Given the description of an element on the screen output the (x, y) to click on. 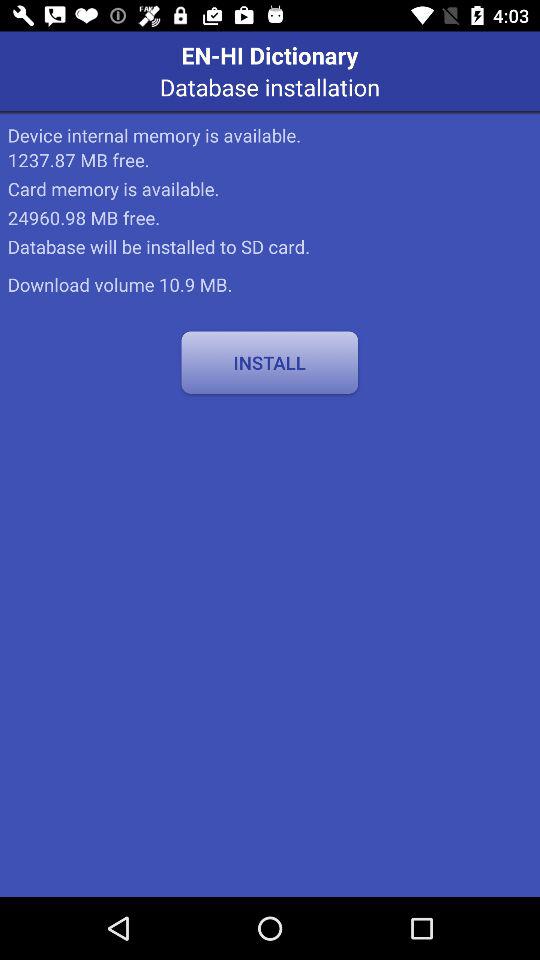
swipe to install (269, 362)
